Given the description of an element on the screen output the (x, y) to click on. 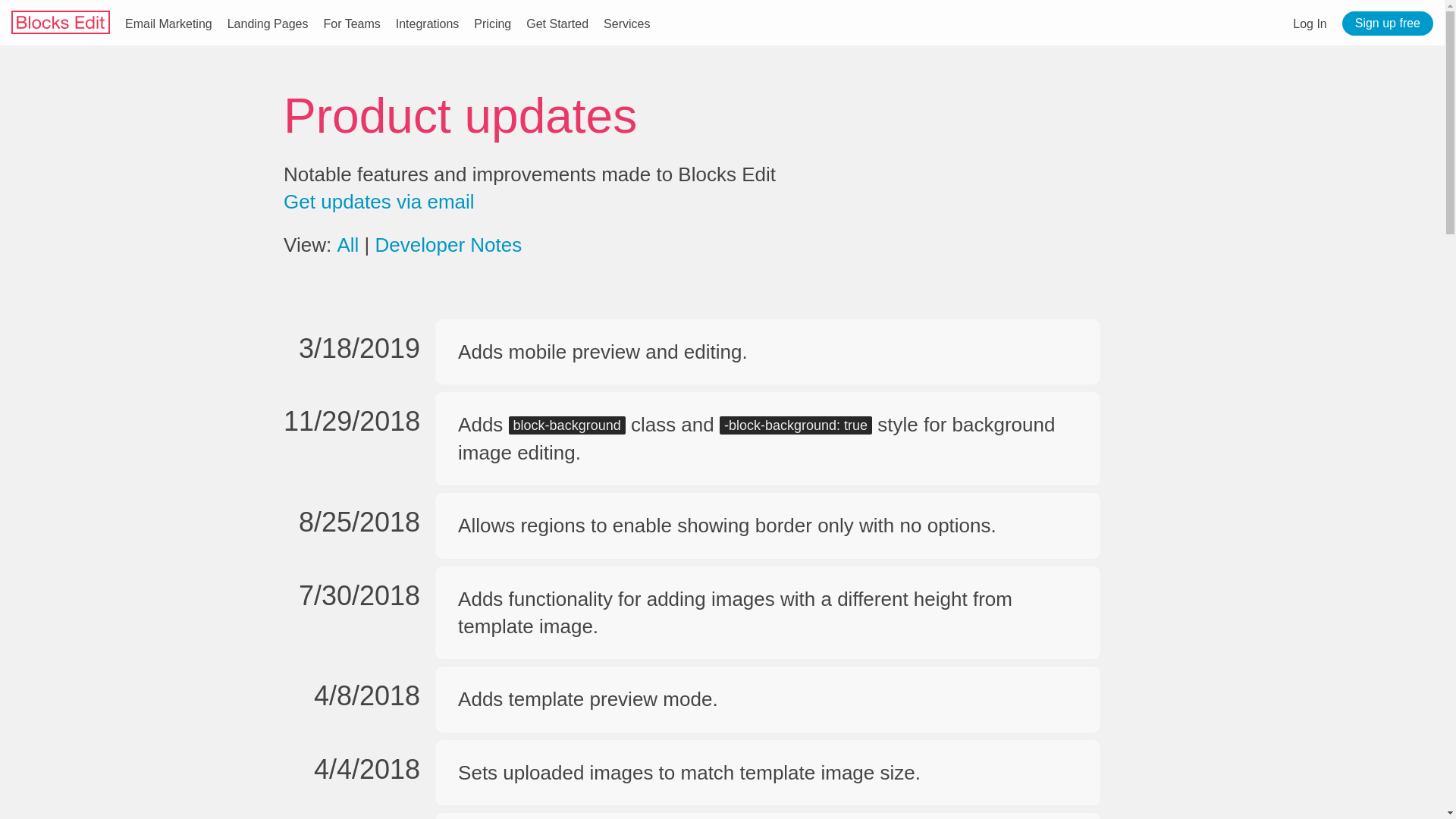
For Teams (351, 23)
Pricing (492, 23)
Get updates via email (378, 201)
Log In (1309, 23)
Services (626, 23)
All (347, 244)
Email Marketing (168, 23)
Developer Notes (448, 244)
Integrations (428, 23)
Sign up free (1387, 23)
Get Started (556, 23)
Landing Pages (267, 23)
